Given the description of an element on the screen output the (x, y) to click on. 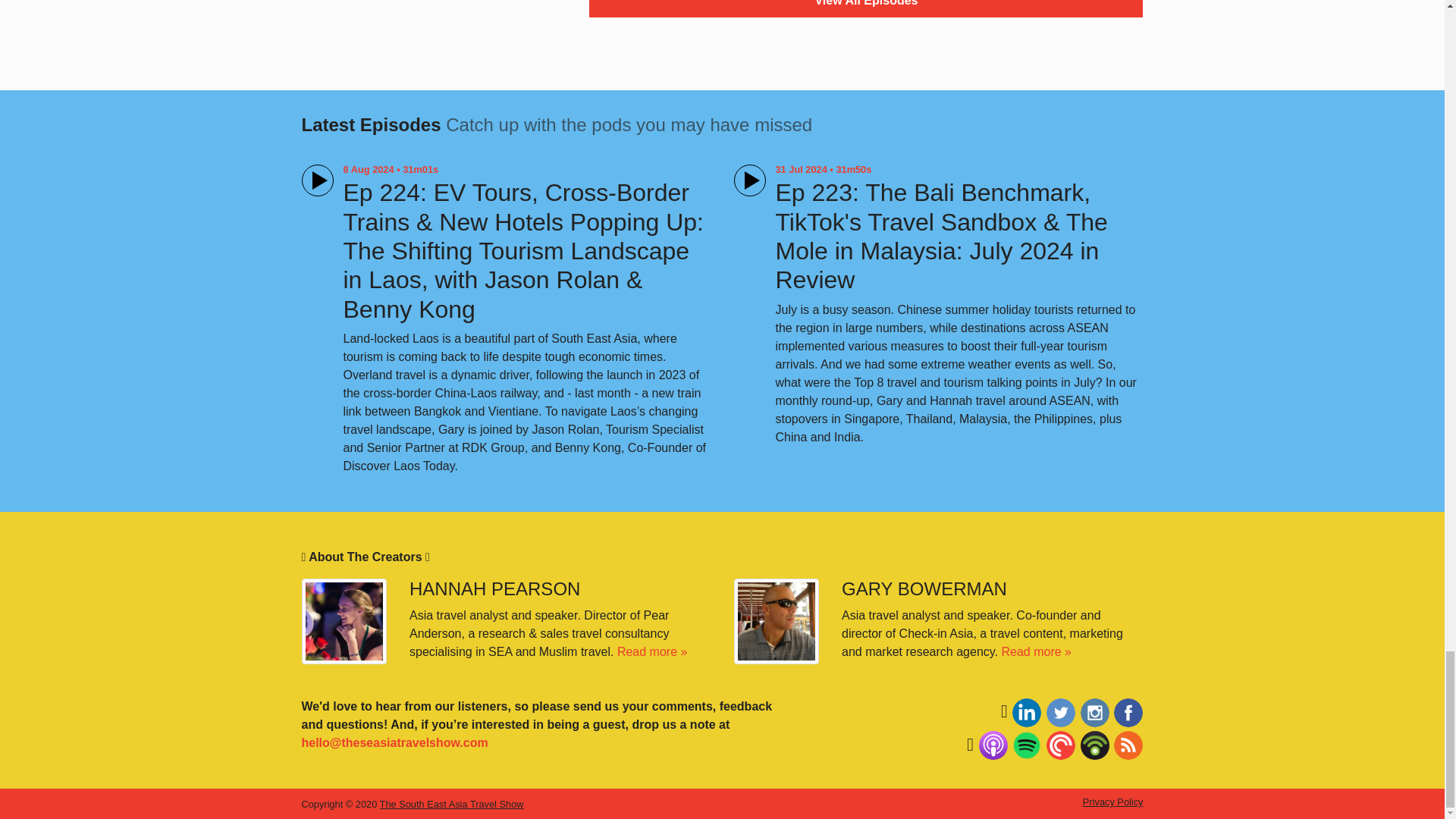
View All Episodes (865, 8)
Play (317, 180)
Privacy Policy (1112, 801)
The South East Asia Travel Show (452, 803)
Play (749, 180)
